Given the description of an element on the screen output the (x, y) to click on. 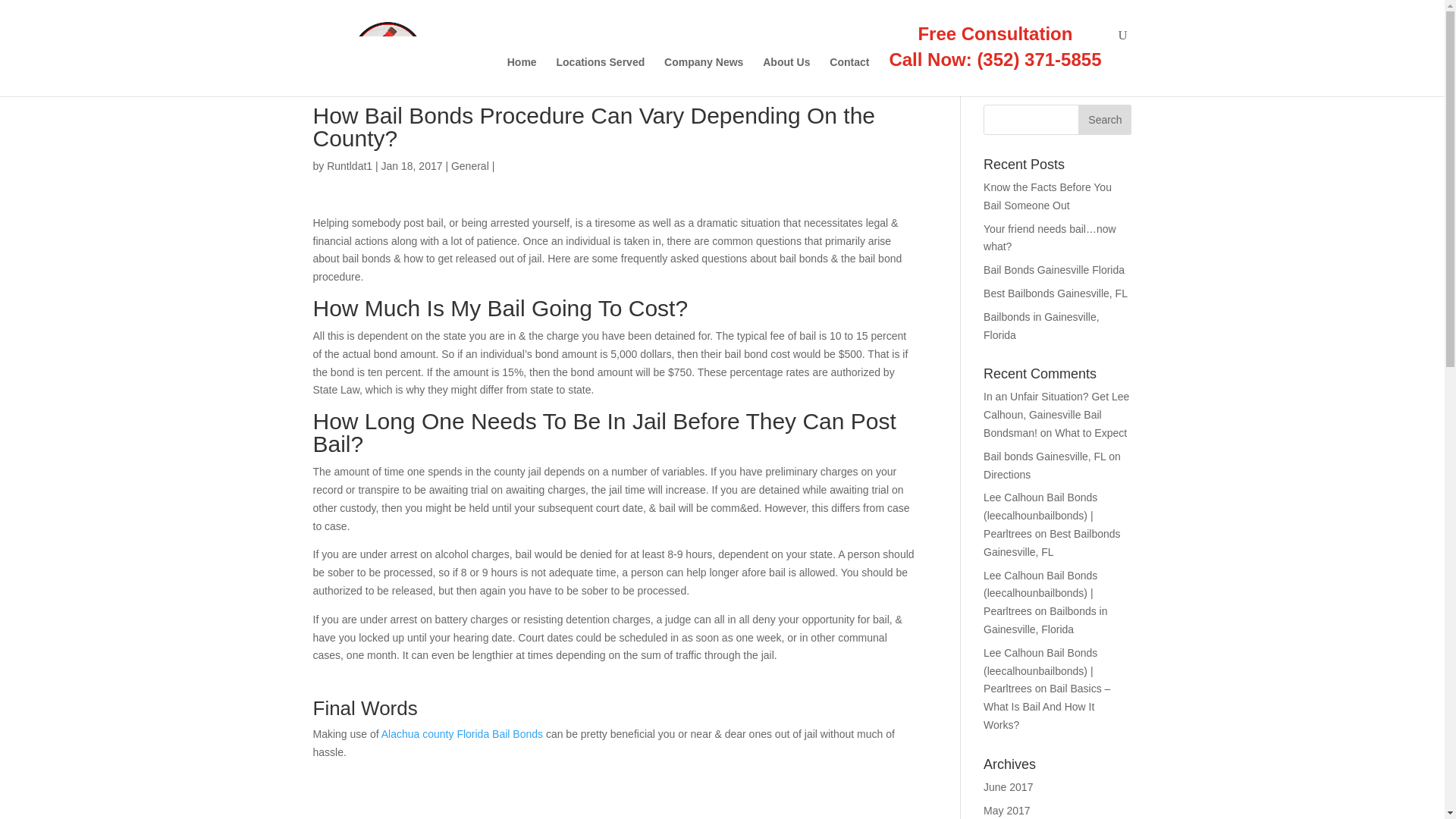
Directions (1007, 474)
June 2017 (1008, 787)
Know the Facts Before You Bail Someone Out (1048, 195)
Contact (849, 76)
General (470, 165)
Search (1104, 119)
Bail Bonds Gainesville Florida (1054, 269)
Search (1104, 119)
What to Expect (1090, 432)
Bailbonds in Gainesville, Florida (1041, 326)
